Given the description of an element on the screen output the (x, y) to click on. 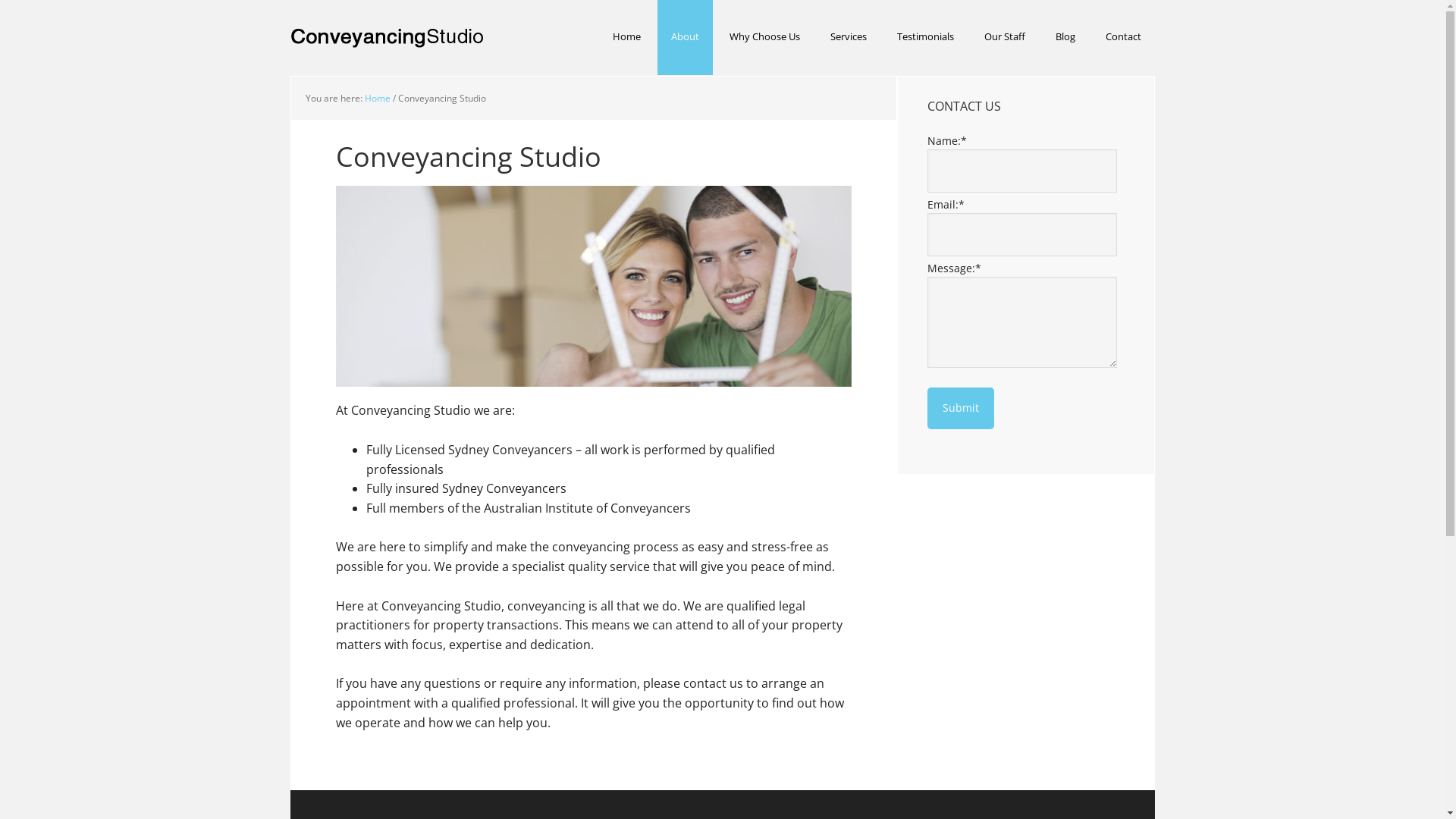
Contact Element type: text (1123, 37)
Skip to main content Element type: text (289, 0)
Why Choose Us Element type: text (764, 37)
Submit Element type: text (959, 407)
About Element type: text (684, 37)
Conveyancing Studio Element type: text (387, 37)
Home Element type: text (626, 37)
Blog Element type: text (1064, 37)
Testimonials Element type: text (924, 37)
Home Element type: text (376, 97)
Services Element type: text (847, 37)
Our Staff Element type: text (1004, 37)
